Given the description of an element on the screen output the (x, y) to click on. 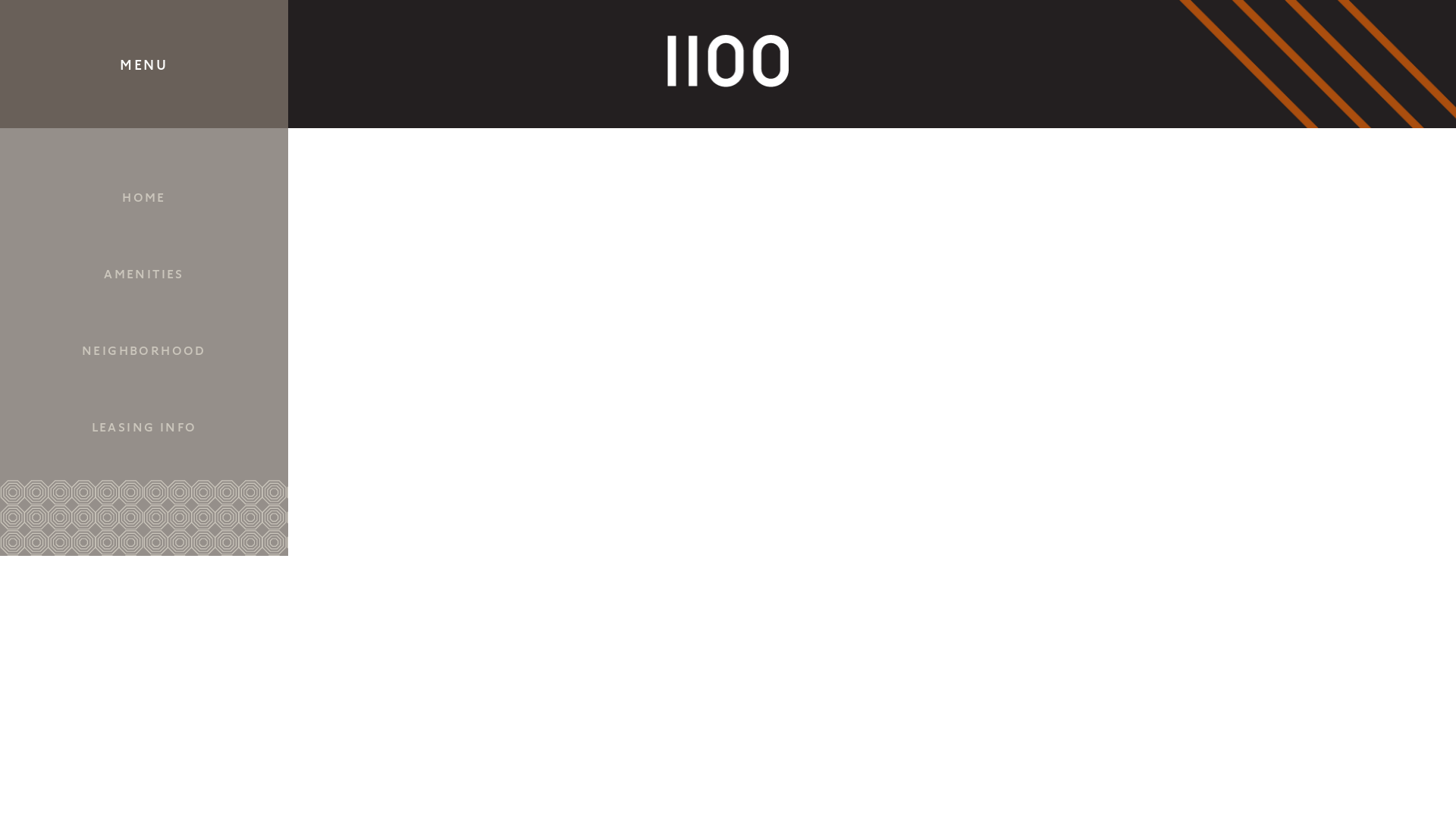
LEASING INFO Element type: text (144, 426)
MENU Element type: text (144, 64)
HOME Element type: text (144, 196)
NEIGHBORHOOD Element type: text (144, 349)
AMENITIES Element type: text (144, 273)
